Given the description of an element on the screen output the (x, y) to click on. 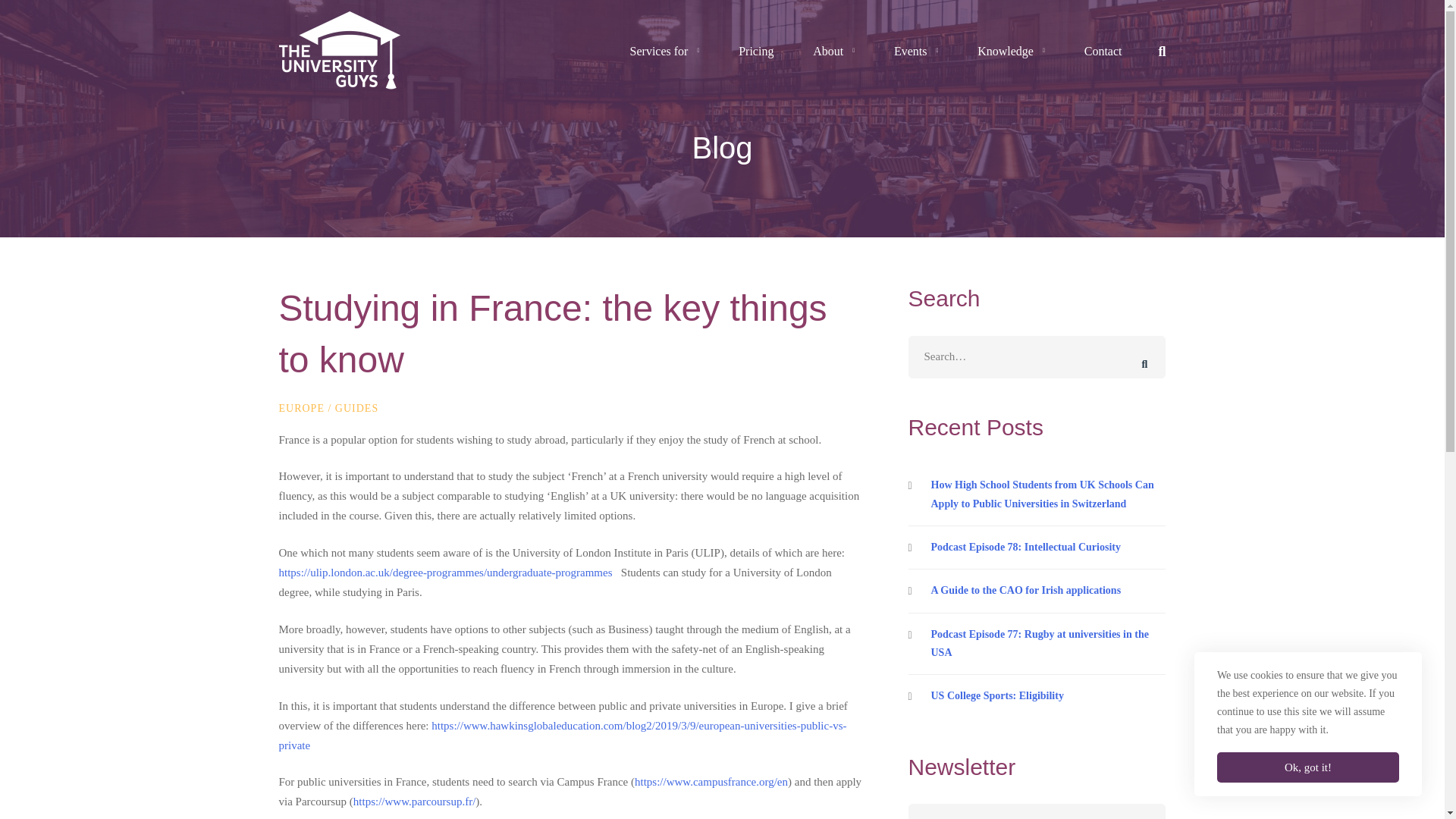
Contact (1102, 51)
US College Sports: Eligibility (1037, 695)
EUROPE (301, 408)
Knowledge (1010, 51)
About (833, 51)
Search for: (1037, 356)
A Guide to the CAO for Irish applications (1037, 590)
Podcast Episode 78: Intellectual Curiosity (1037, 547)
Events (916, 51)
Services for (664, 51)
Podcast Episode 77: Rugby at universities in the USA (1037, 643)
Pricing (756, 51)
GUIDES (356, 408)
a (454, 572)
